Given the description of an element on the screen output the (x, y) to click on. 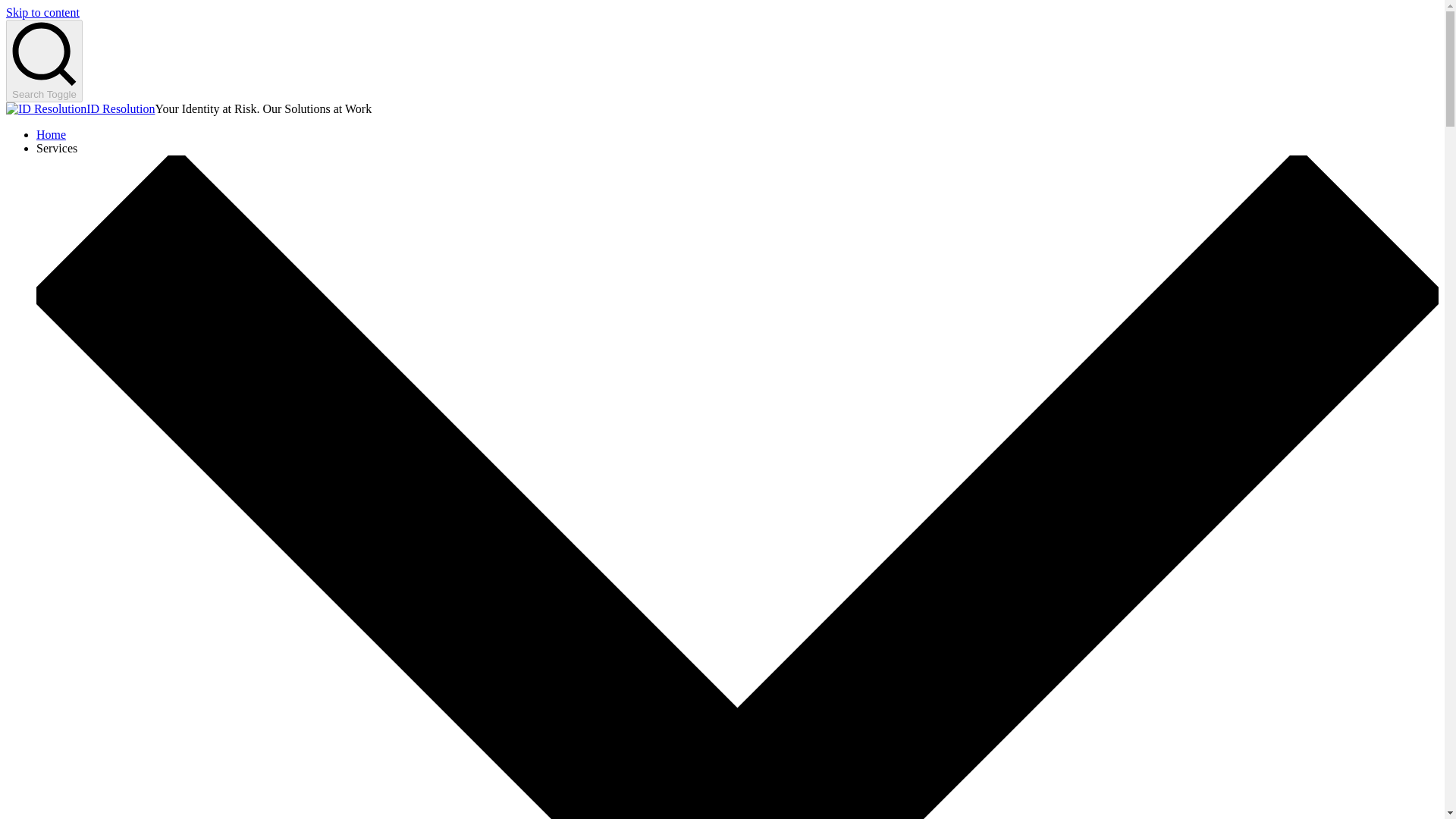
Search Toggle (43, 60)
Skip to content (42, 11)
Home (50, 133)
ID Resolution (119, 108)
